Given the description of an element on the screen output the (x, y) to click on. 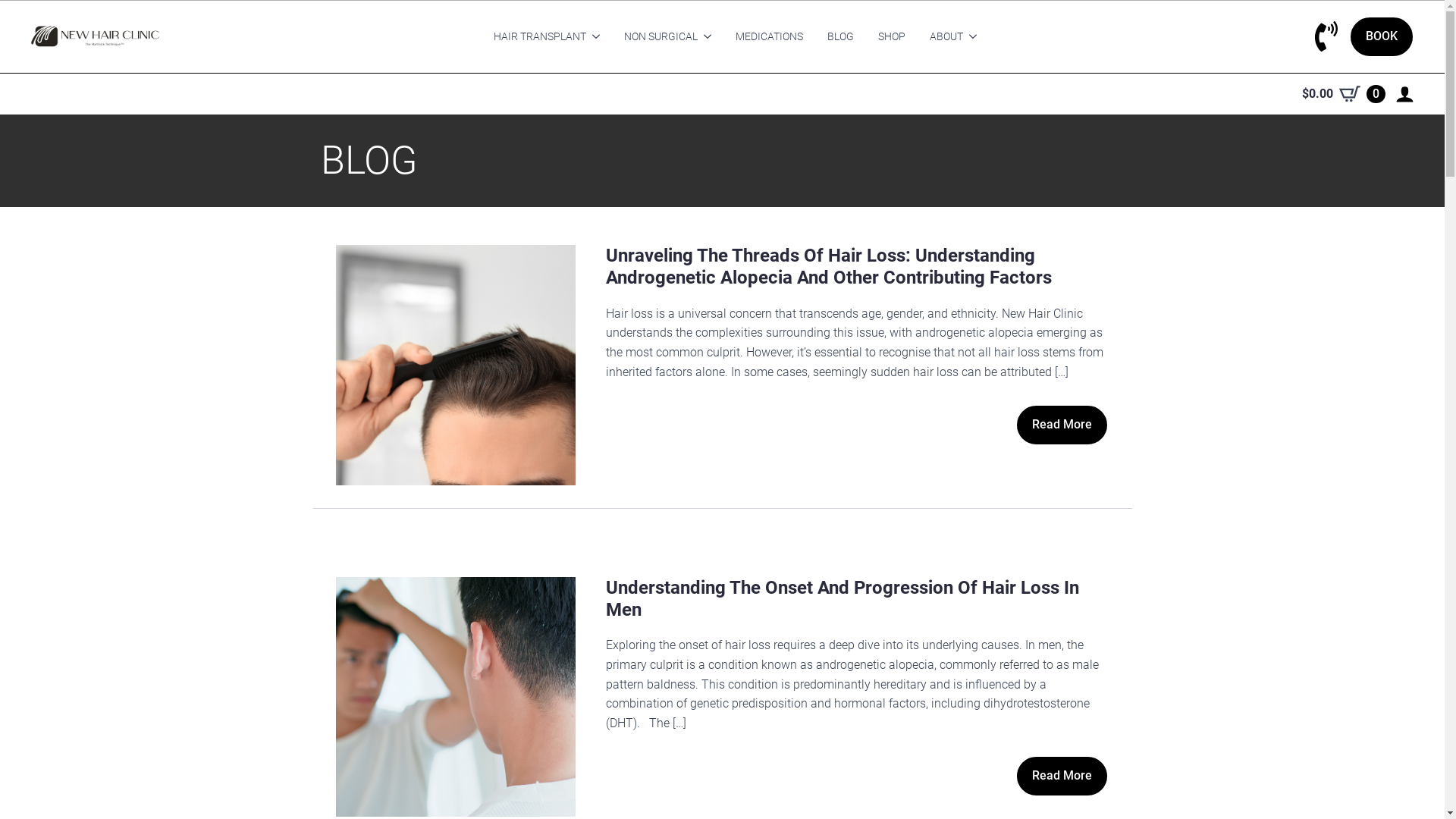
BOOK Element type: text (1381, 36)
$0.00
0 Element type: text (1343, 93)
ABOUT Element type: text (940, 35)
Read More Element type: text (1061, 424)
NON SURGICAL Element type: text (654, 35)
Understanding The Onset And Progression Of Hair Loss In Men Element type: text (856, 606)
SHOP Element type: text (891, 35)
Read More Element type: text (1061, 776)
MEDICATIONS Element type: text (769, 35)
HAIR TRANSPLANT Element type: text (533, 35)
BLOG Element type: text (840, 35)
